Given the description of an element on the screen output the (x, y) to click on. 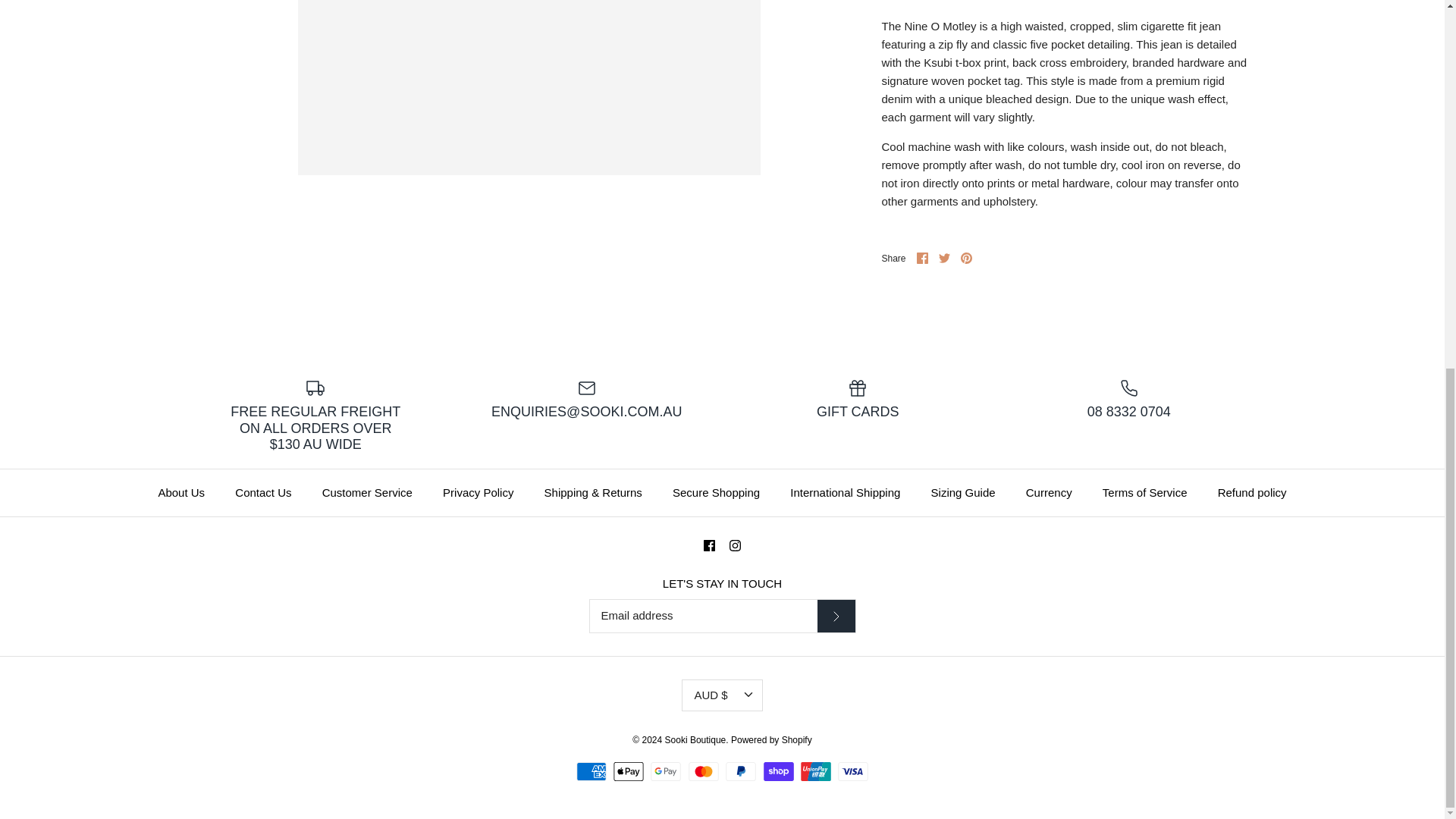
Pinterest (966, 257)
Twitter (944, 257)
Facebook (708, 545)
Down (748, 694)
Facebook (922, 257)
American Express (591, 771)
Instagram (735, 545)
